Given the description of an element on the screen output the (x, y) to click on. 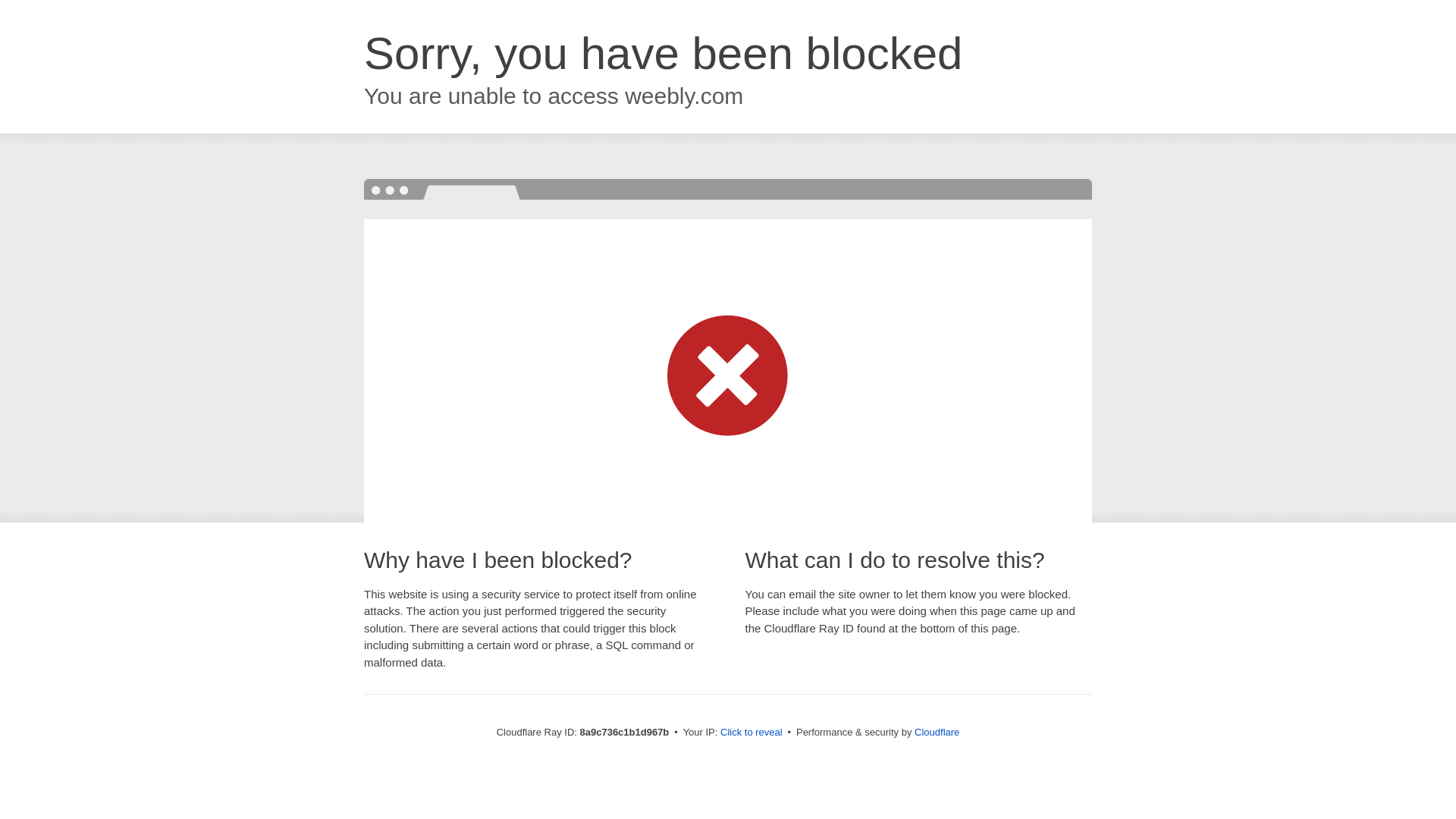
Click to reveal (751, 732)
Cloudflare (936, 731)
